Given the description of an element on the screen output the (x, y) to click on. 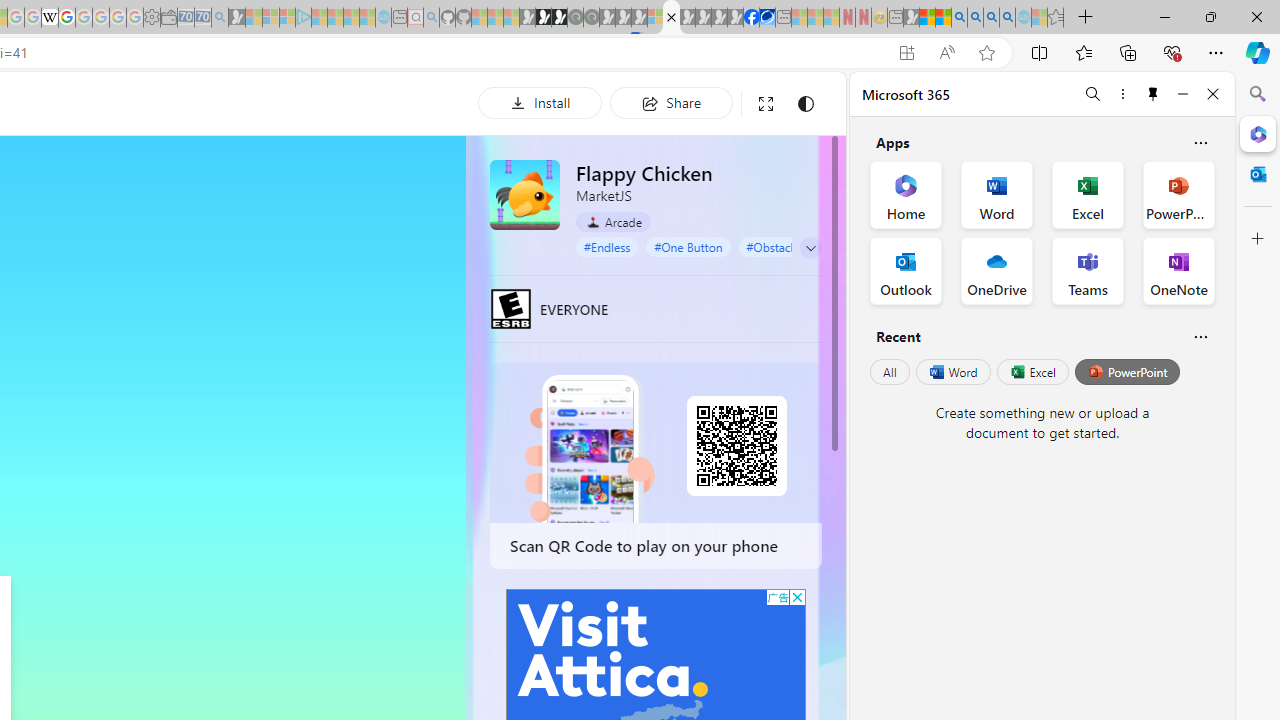
Read aloud this page (Ctrl+Shift+U) (946, 53)
Flappy Chicken (525, 194)
Play Zoo Boom in your browser | Games from Microsoft Start (543, 17)
Microsoft account | Privacy - Sleeping (287, 17)
Unpin side pane (1153, 93)
Settings - Sleeping (151, 17)
All (890, 372)
Change to dark mode (805, 103)
Future Focus Report 2024 - Sleeping (591, 17)
